Given the description of an element on the screen output the (x, y) to click on. 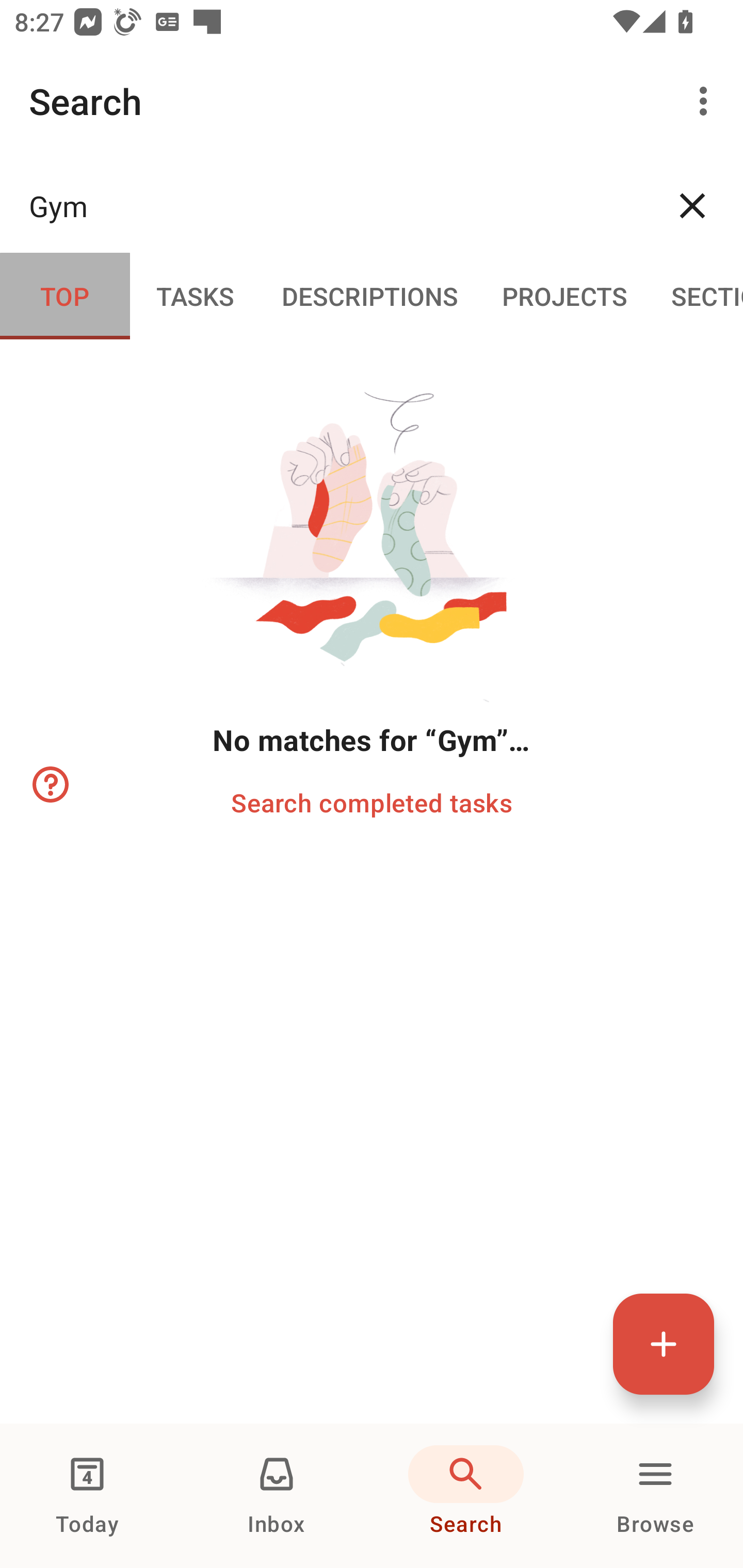
Search More options (371, 100)
More options (706, 101)
Gym (335, 205)
Clear (692, 205)
Tasks TASKS (195, 295)
Descriptions DESCRIPTIONS (370, 295)
Projects PROJECTS (564, 295)
Learn how to refine your search (48, 784)
Search completed tasks (371, 801)
Quick add (663, 1343)
Today (87, 1495)
Inbox (276, 1495)
Browse (655, 1495)
